Given the description of an element on the screen output the (x, y) to click on. 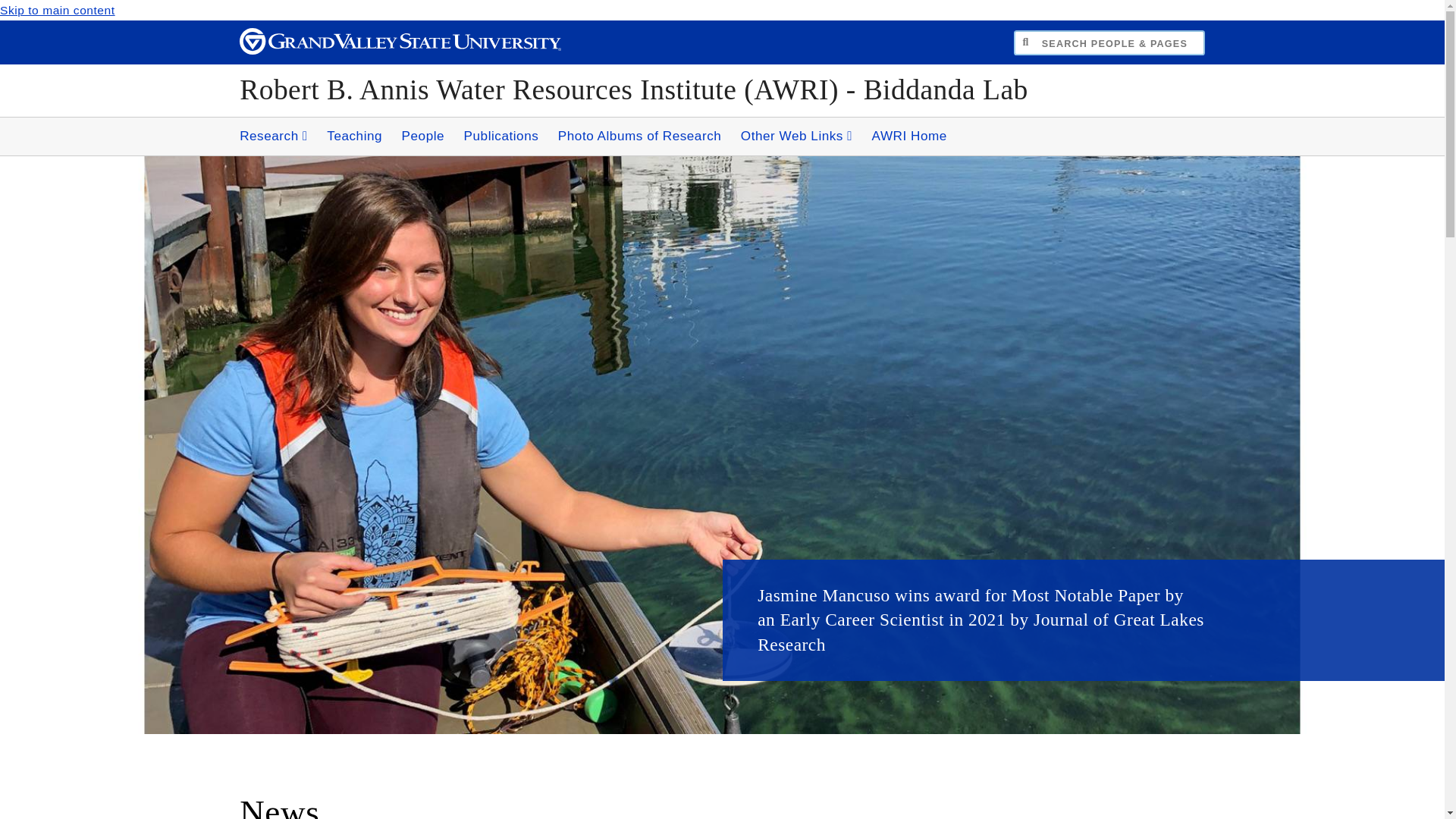
Publications (502, 136)
People (422, 136)
Other Web Links (796, 136)
Photo Albums of Research (639, 136)
AWRI Home (908, 136)
Teaching (354, 136)
Research (273, 136)
Skip to main content (57, 10)
